Given the description of an element on the screen output the (x, y) to click on. 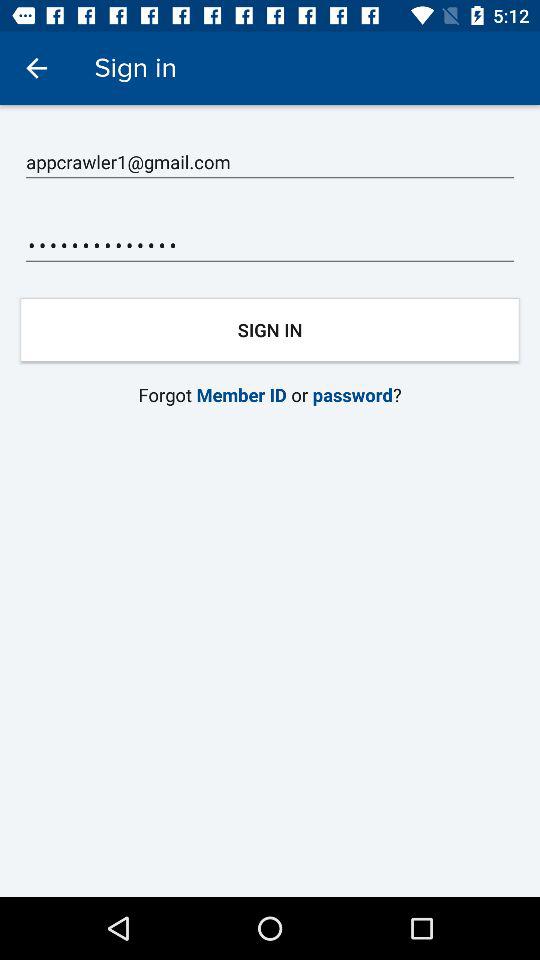
jump until forgot member id item (270, 394)
